Given the description of an element on the screen output the (x, y) to click on. 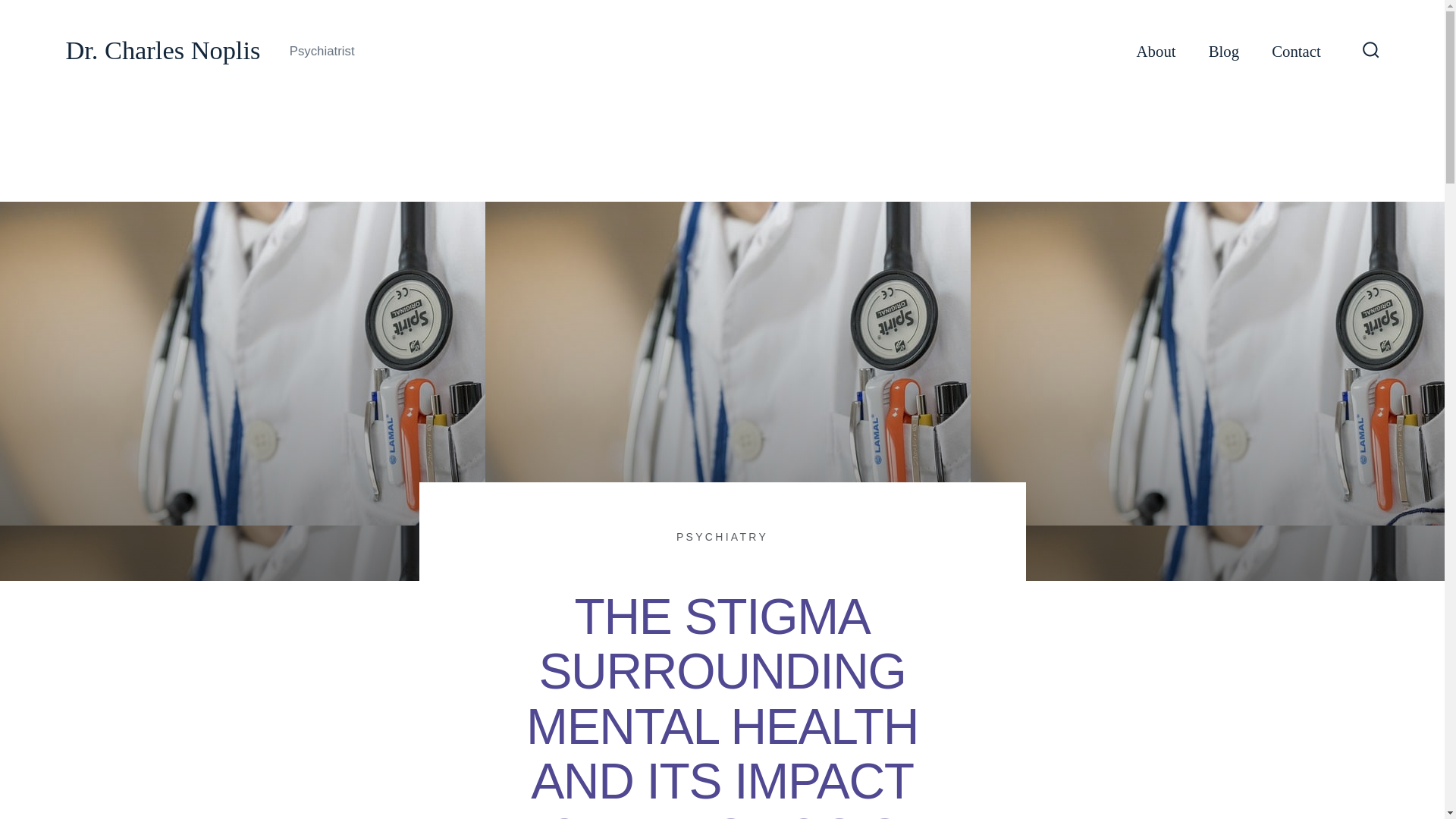
Dr. Charles Noplis (162, 51)
Contact (1295, 51)
PSYCHIATRY (722, 536)
About (1156, 51)
Blog (1223, 51)
